Given the description of an element on the screen output the (x, y) to click on. 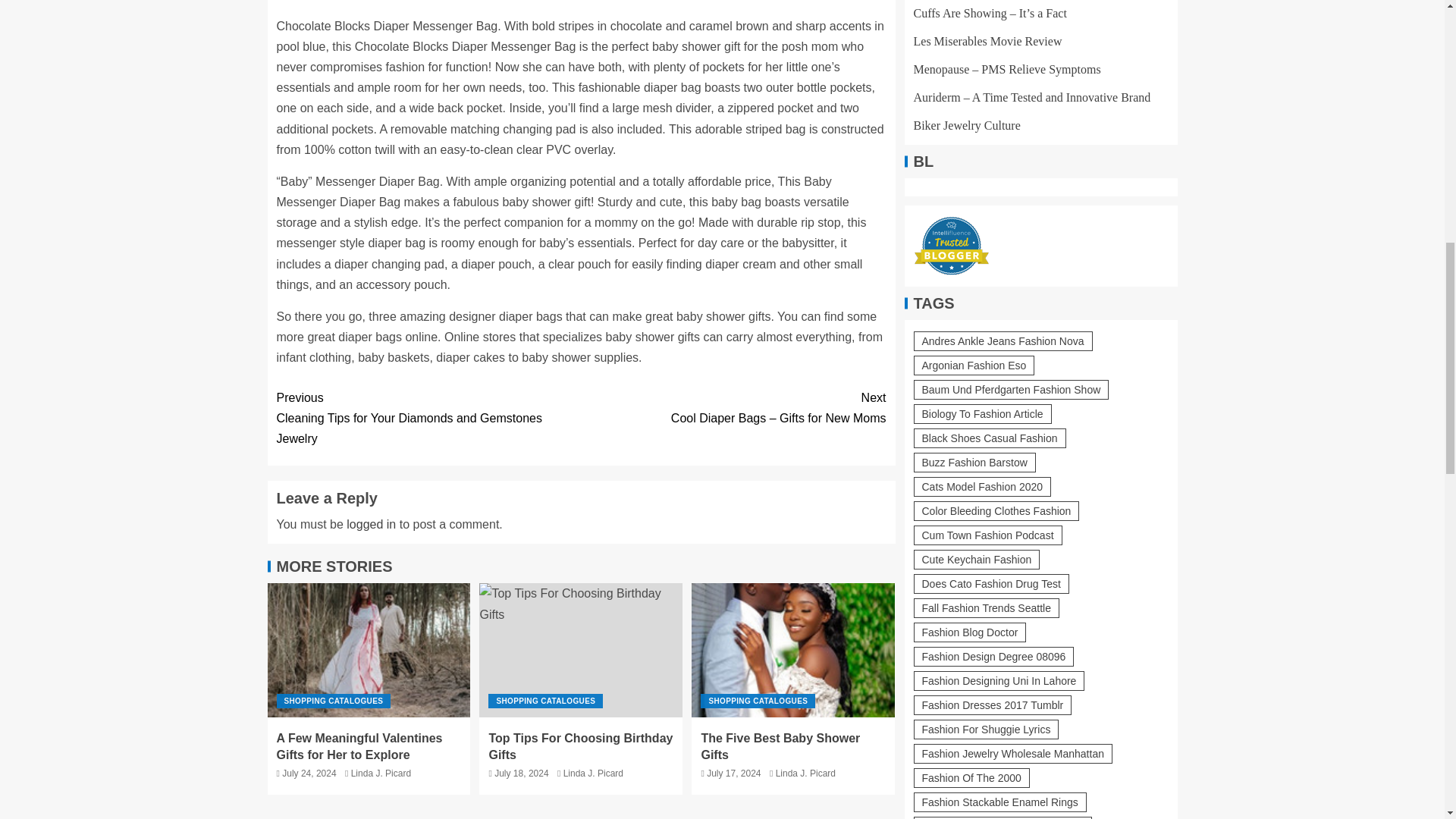
A Few Meaningful Valentines Gifts for Her to Explore (368, 650)
Linda J. Picard (593, 773)
logged in (371, 523)
Linda J. Picard (805, 773)
The Five Best Baby Shower Gifts (780, 746)
SHOPPING CATALOGUES (333, 700)
The Five Best Baby Shower Gifts (793, 650)
SHOPPING CATALOGUES (544, 700)
A Few Meaningful Valentines Gifts for Her to Explore (359, 746)
SHOPPING CATALOGUES (757, 700)
Top Tips For Choosing Birthday Gifts (580, 650)
Linda J. Picard (380, 773)
Top Tips For Choosing Birthday Gifts (579, 746)
